Given the description of an element on the screen output the (x, y) to click on. 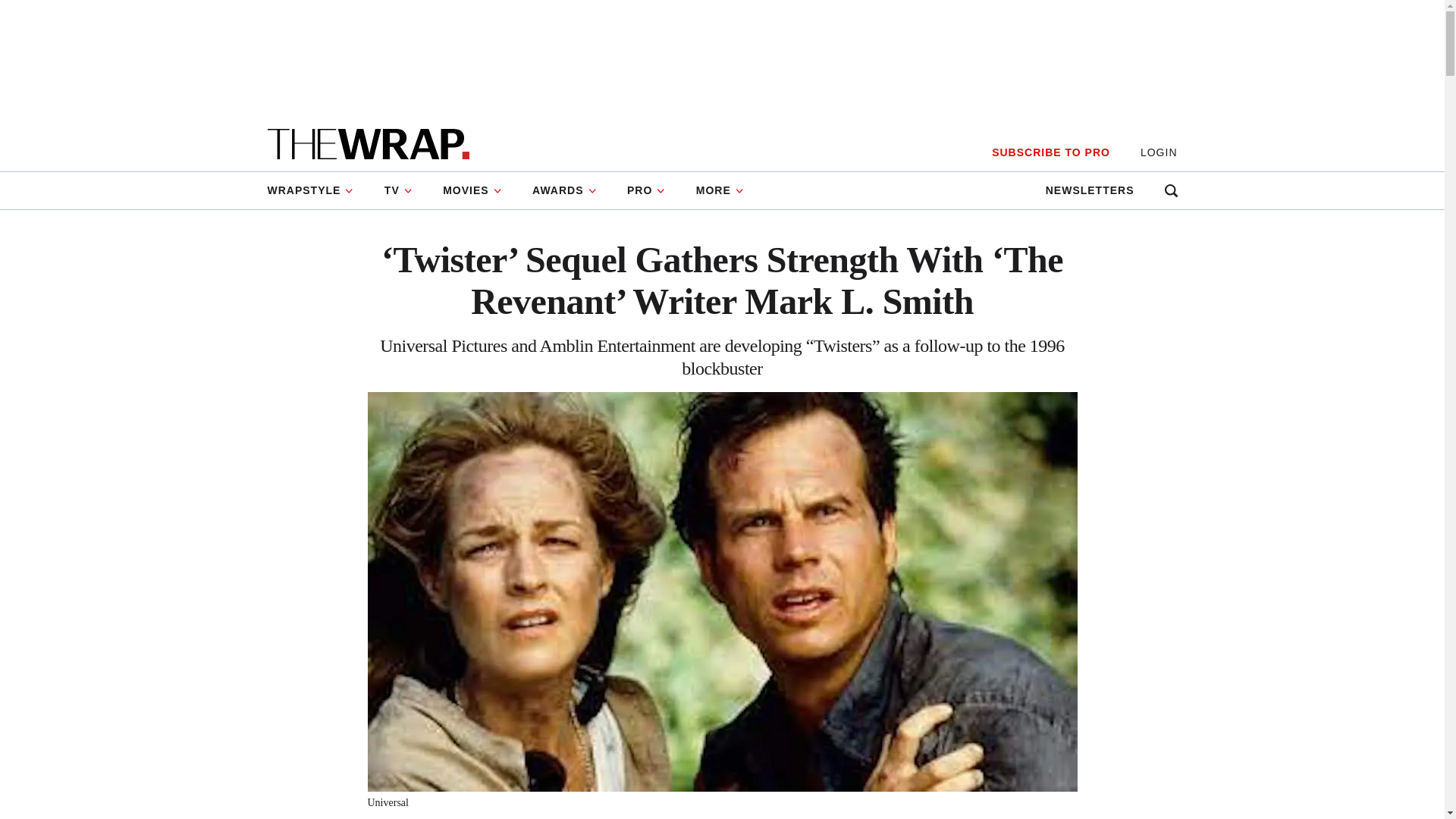
PRO (646, 190)
LOGIN (1158, 152)
WRAPSTYLE (317, 190)
AWARDS (563, 190)
TV (398, 190)
SUBSCRIBE TO PRO (1050, 152)
MOVIES (472, 190)
MORE (719, 190)
